Given the description of an element on the screen output the (x, y) to click on. 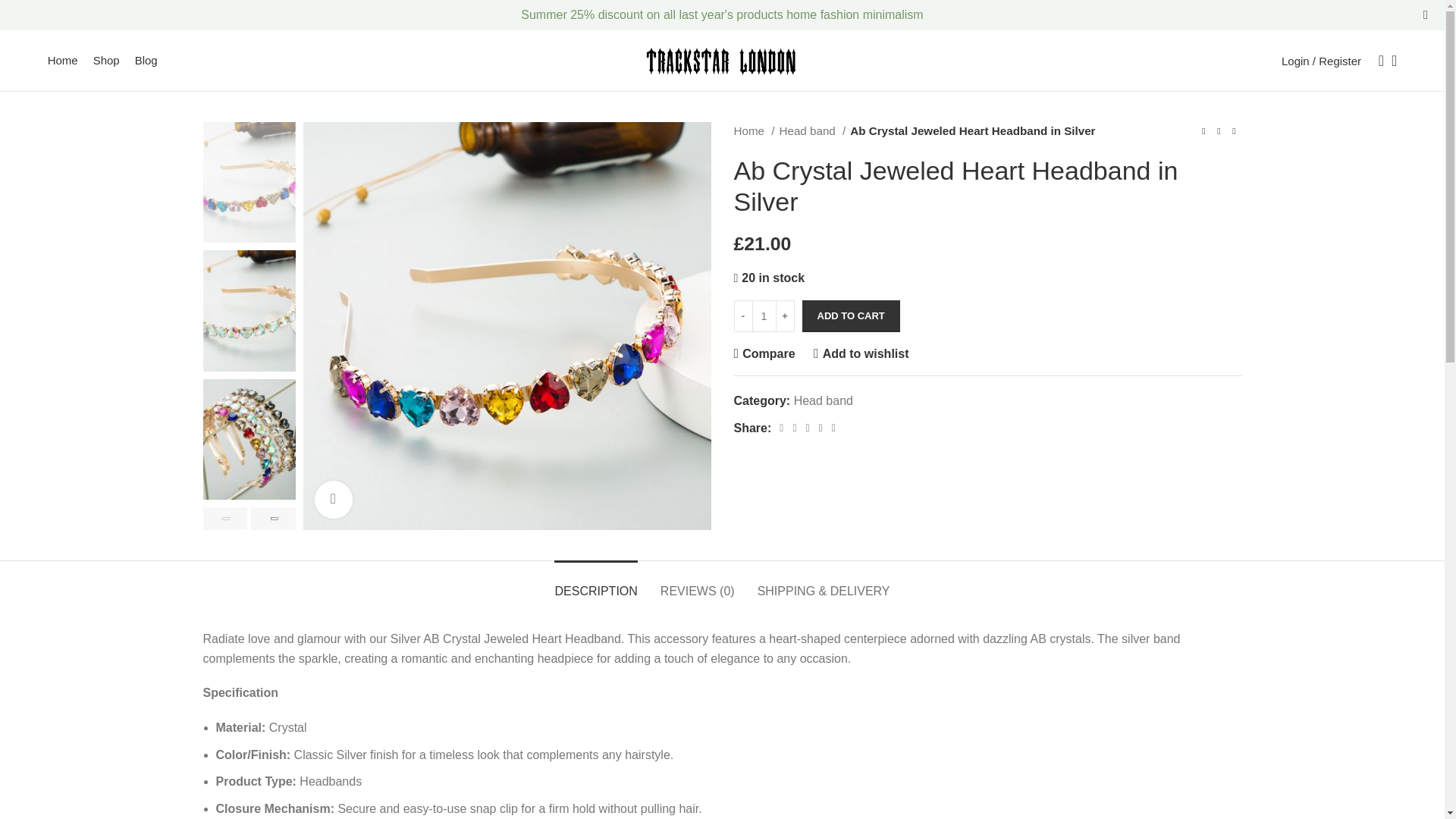
Head band (811, 131)
Compare (763, 354)
Home (63, 60)
Add to wishlist (860, 354)
ADD TO CART (850, 316)
Home (753, 131)
My account (1321, 60)
Head band (823, 400)
